Given the description of an element on the screen output the (x, y) to click on. 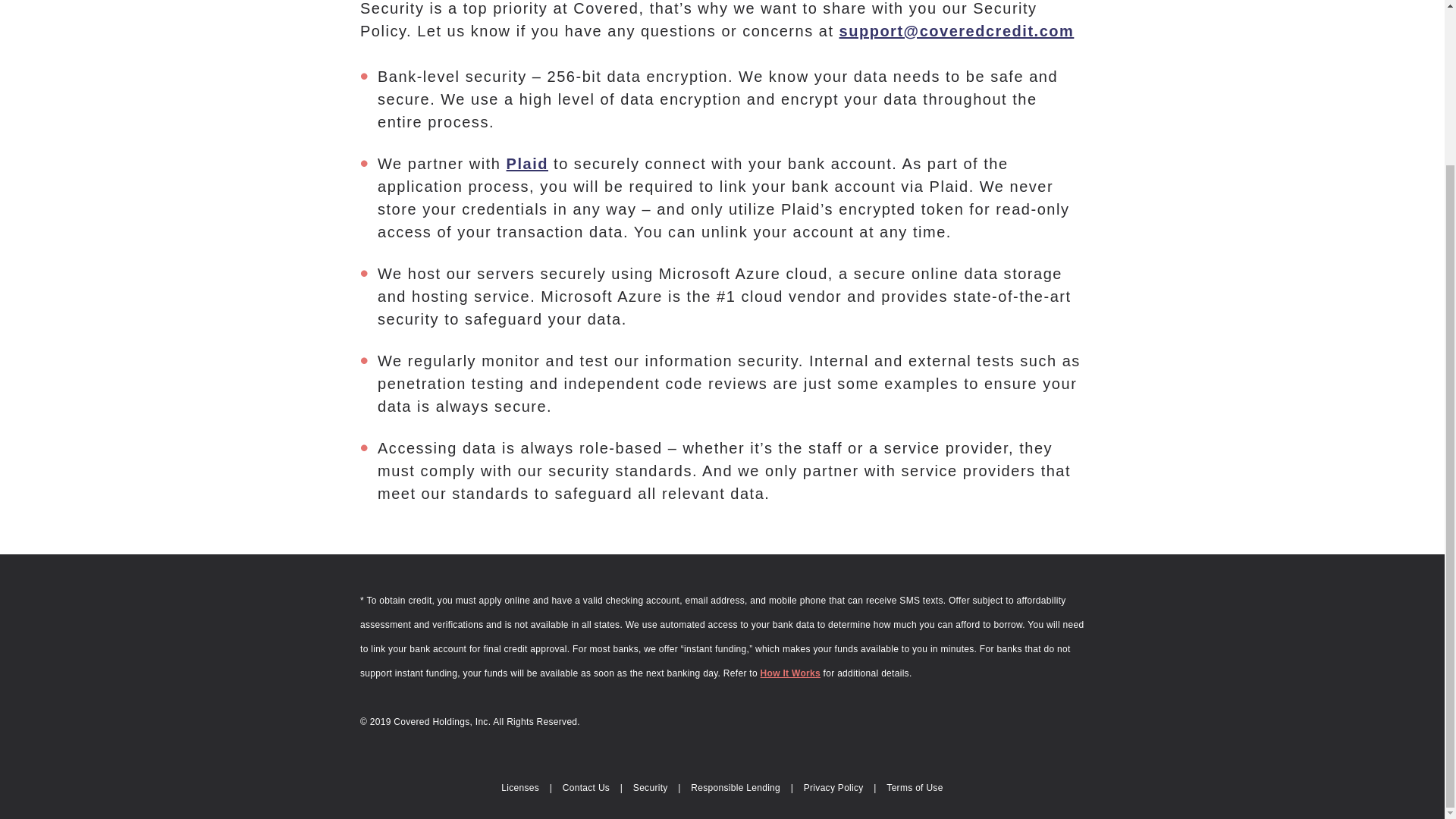
Responsible Lending (735, 787)
Licenses (519, 787)
Contact Us (586, 787)
How It Works (790, 673)
Plaid (527, 163)
Security (650, 787)
Privacy Policy (833, 787)
Terms of Use (914, 787)
